Given the description of an element on the screen output the (x, y) to click on. 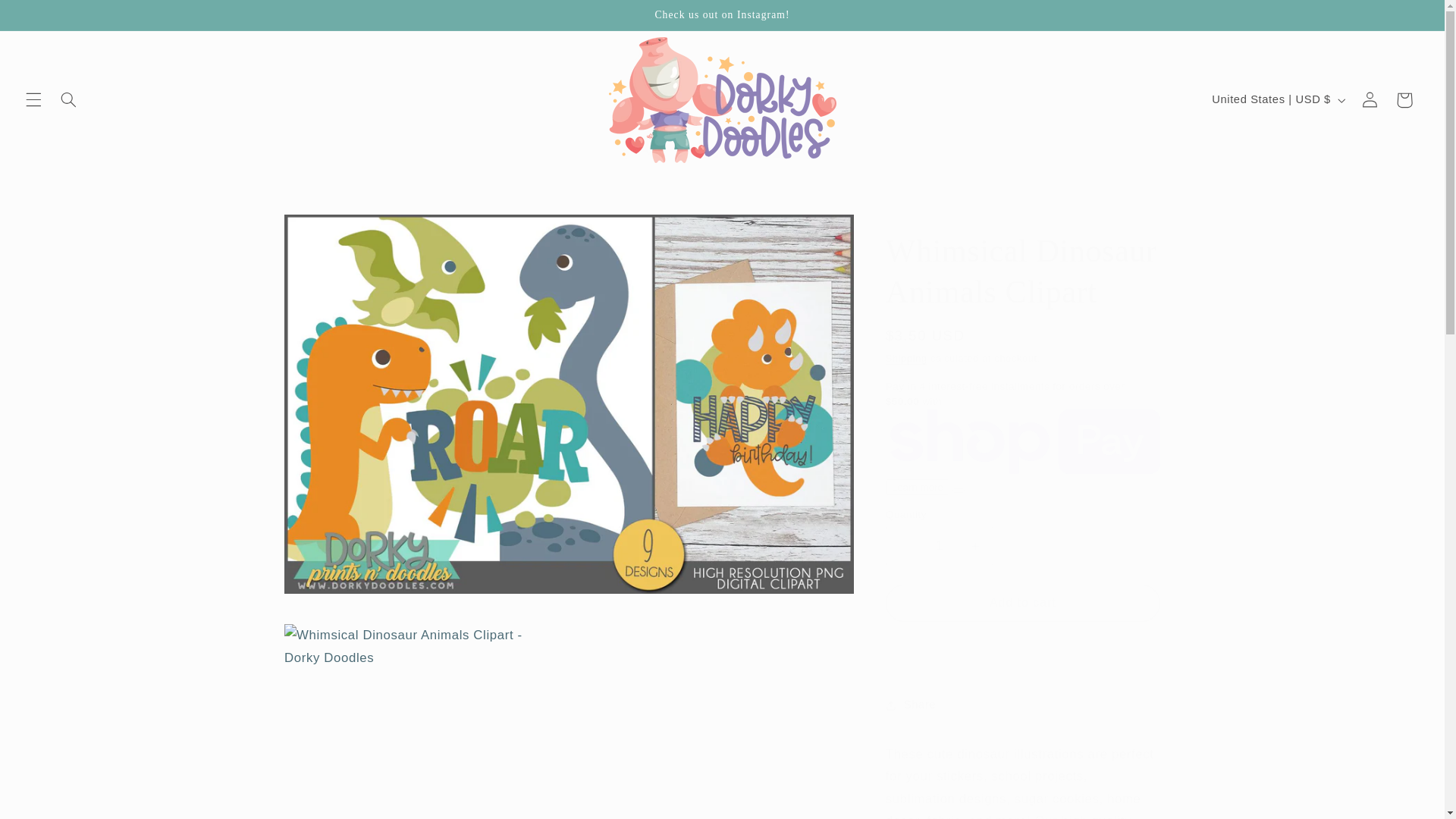
Open media 2 in modal (418, 713)
1 (939, 545)
Skip to content (48, 18)
